Given the description of an element on the screen output the (x, y) to click on. 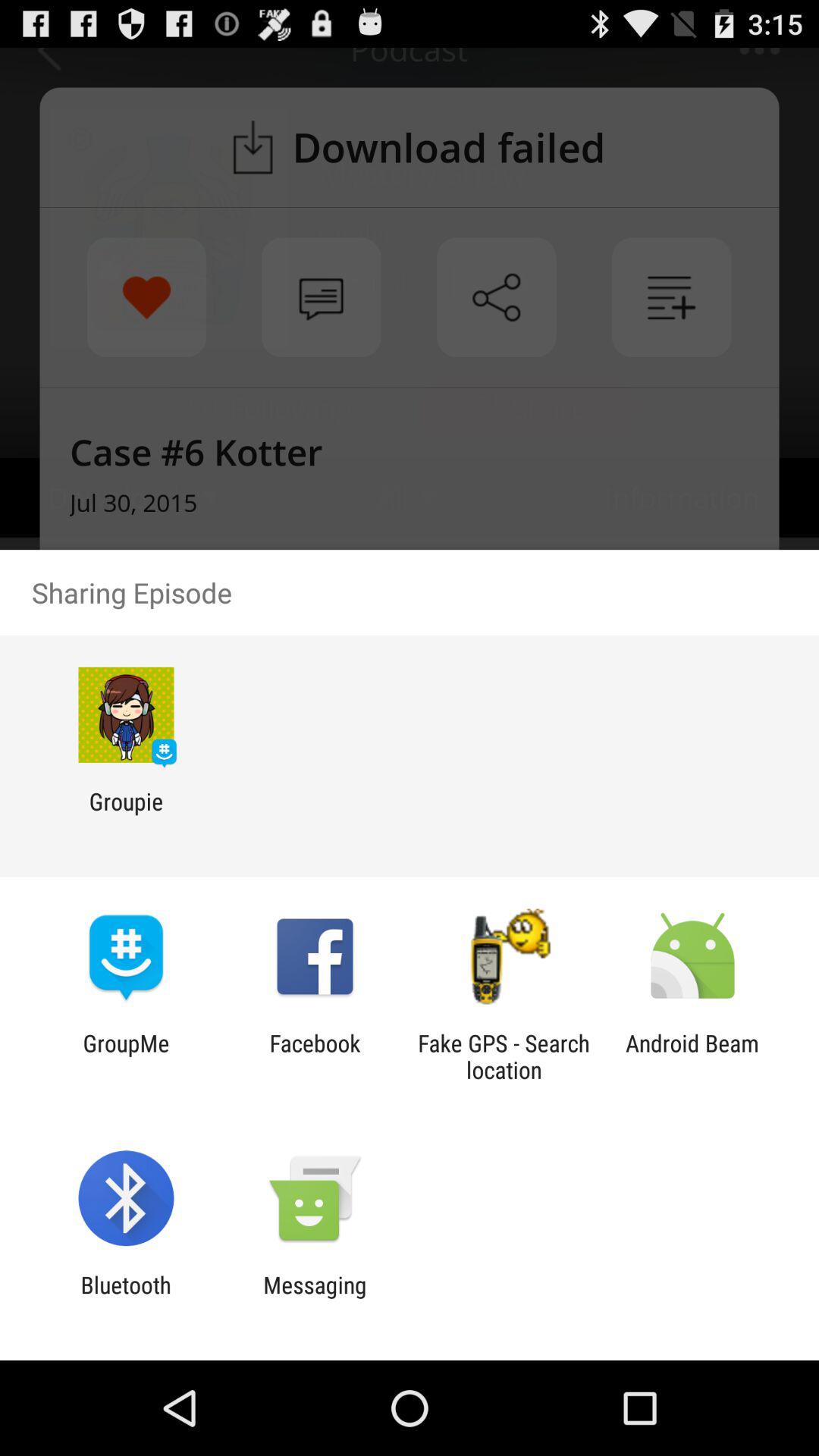
scroll to fake gps search (503, 1056)
